Given the description of an element on the screen output the (x, y) to click on. 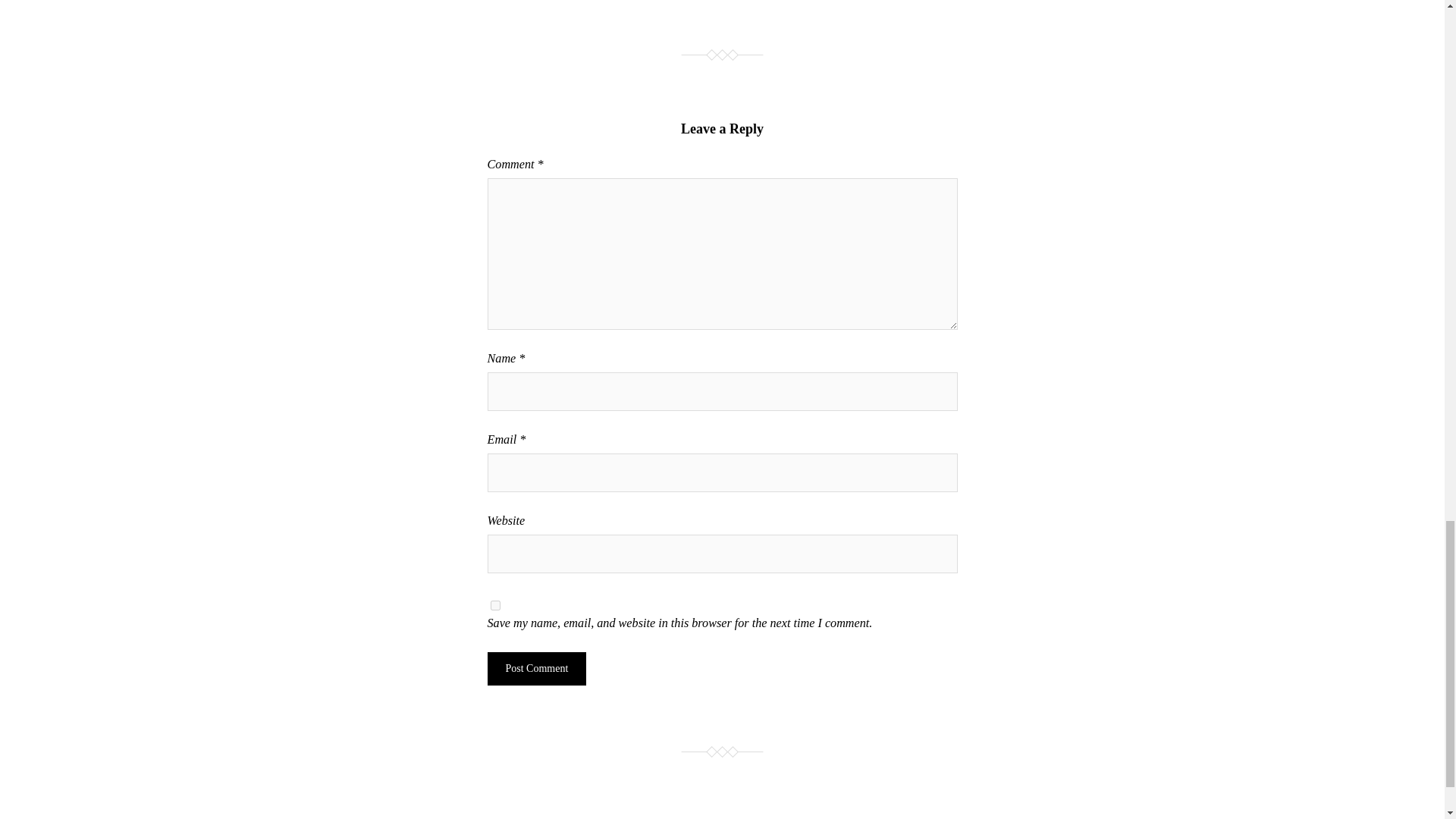
Post Comment (536, 668)
yes (494, 605)
Post Comment (536, 668)
